Given the description of an element on the screen output the (x, y) to click on. 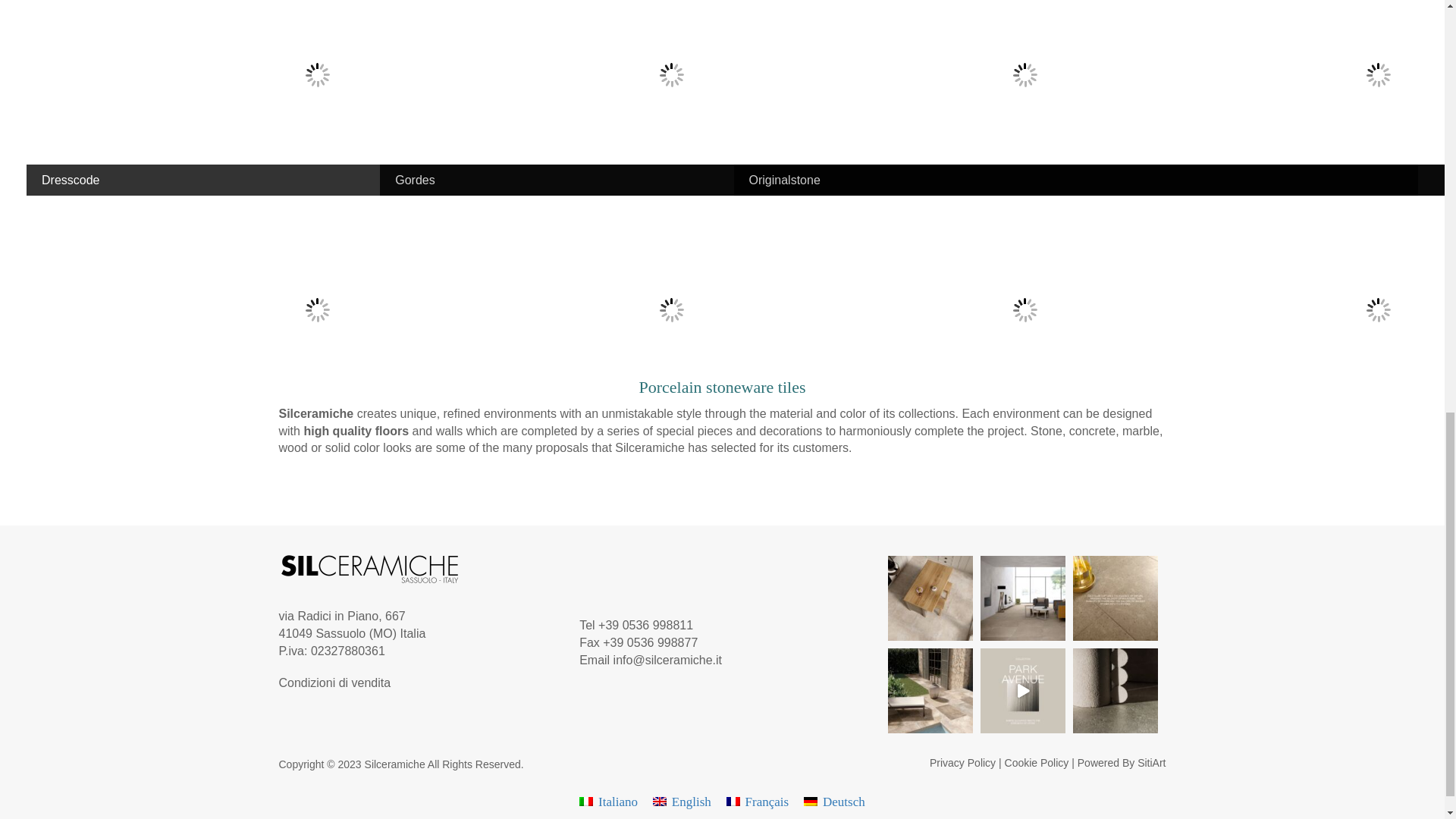
SILCERAMICHE (370, 568)
